Given the description of an element on the screen output the (x, y) to click on. 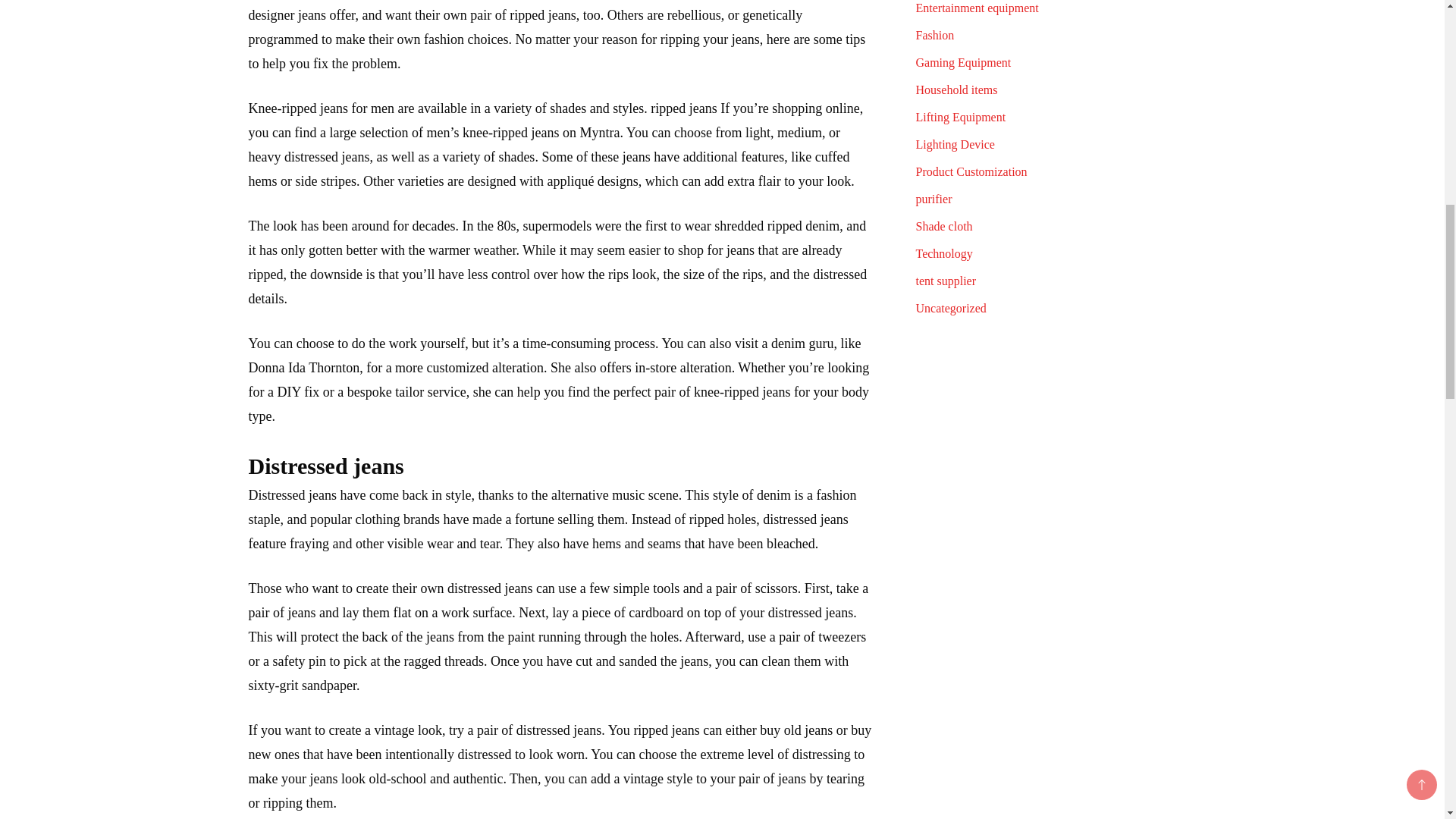
ripped jeans (665, 729)
ripped jeans (683, 108)
